Given the description of an element on the screen output the (x, y) to click on. 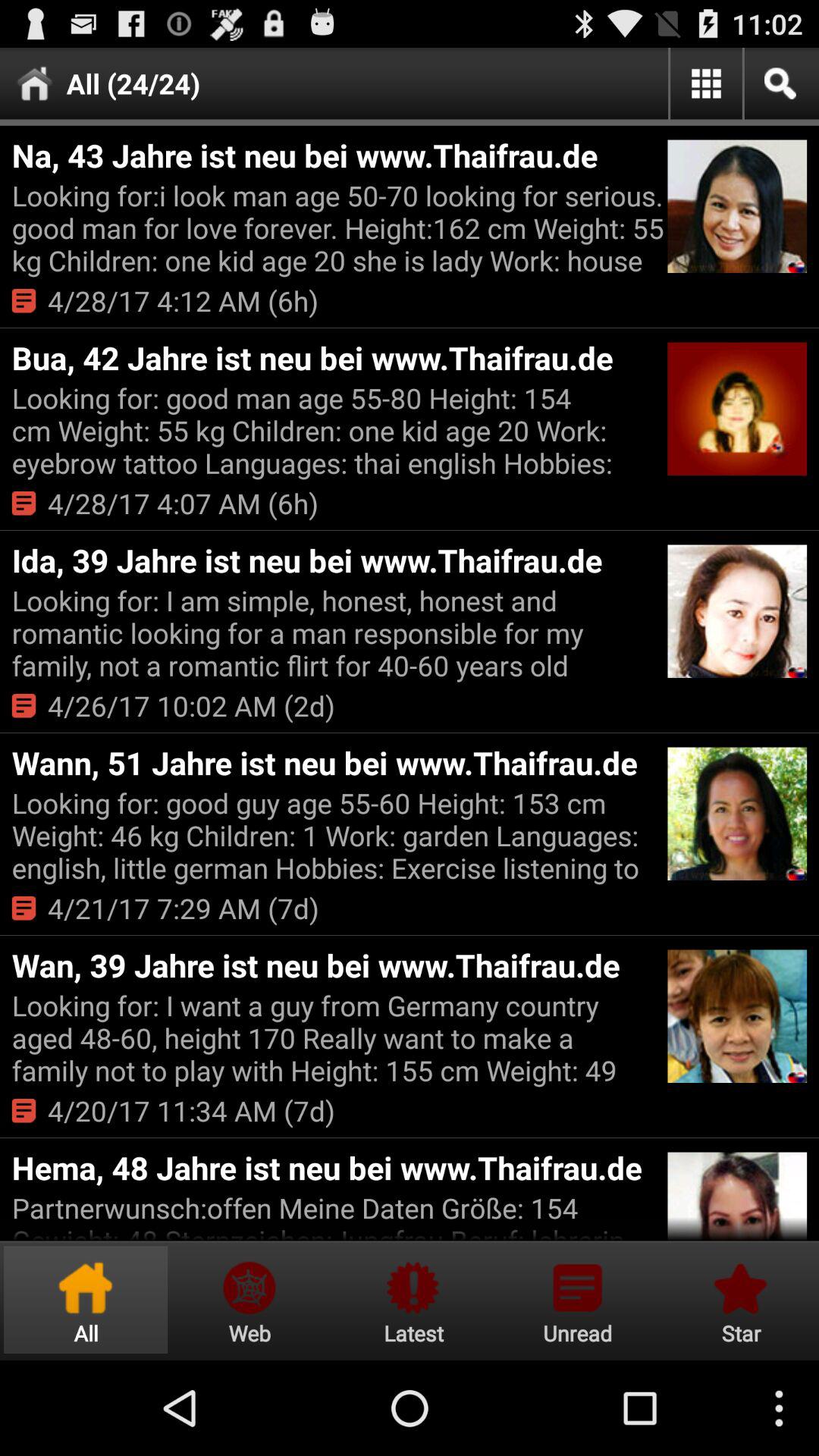
return to home button (85, 1299)
